Given the description of an element on the screen output the (x, y) to click on. 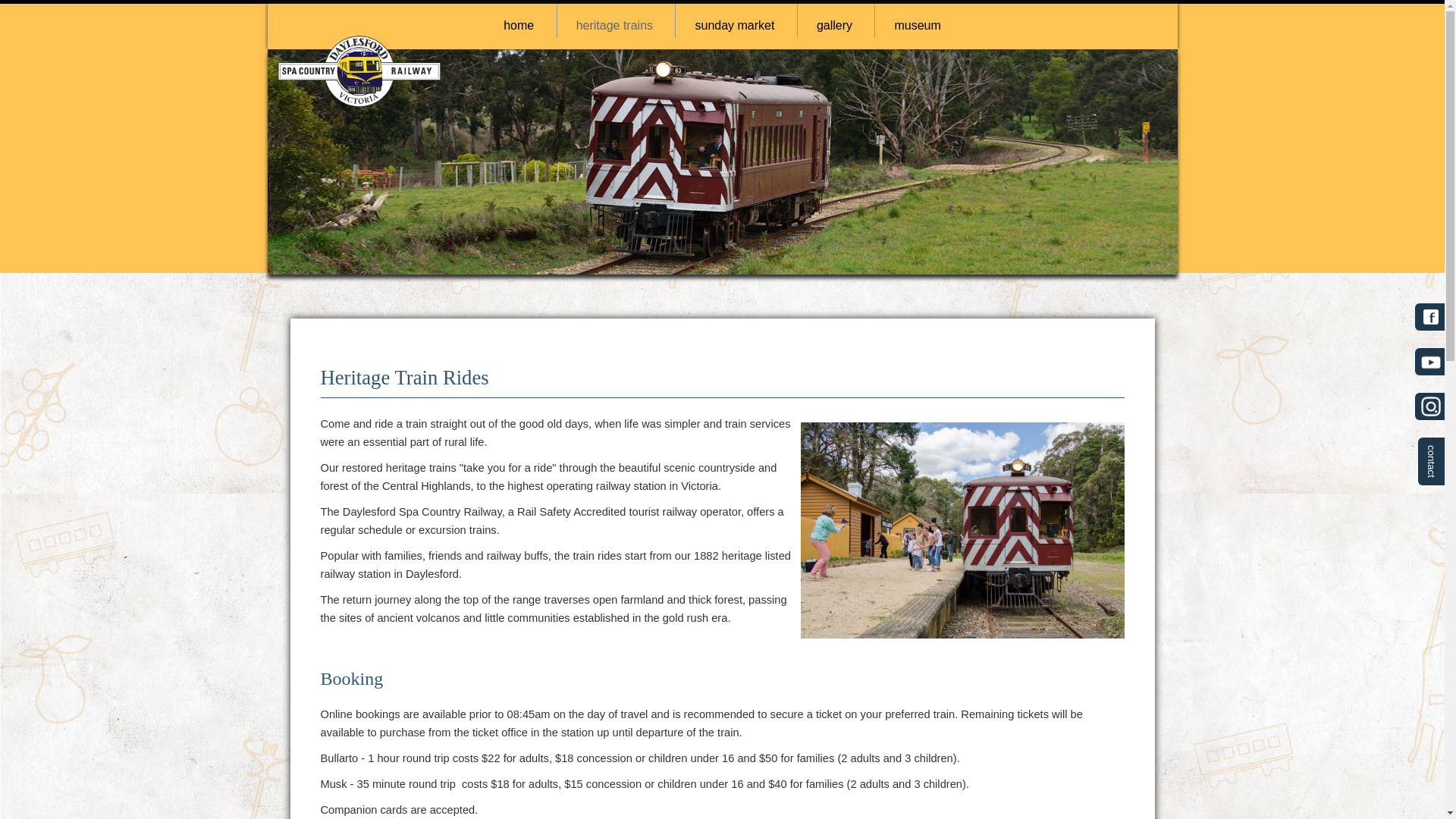
museum (916, 25)
heritage trains (614, 25)
youtube (1428, 362)
facebook (1428, 317)
home (518, 25)
sunday market (734, 25)
gallery (833, 25)
instagram (1428, 407)
